Given the description of an element on the screen output the (x, y) to click on. 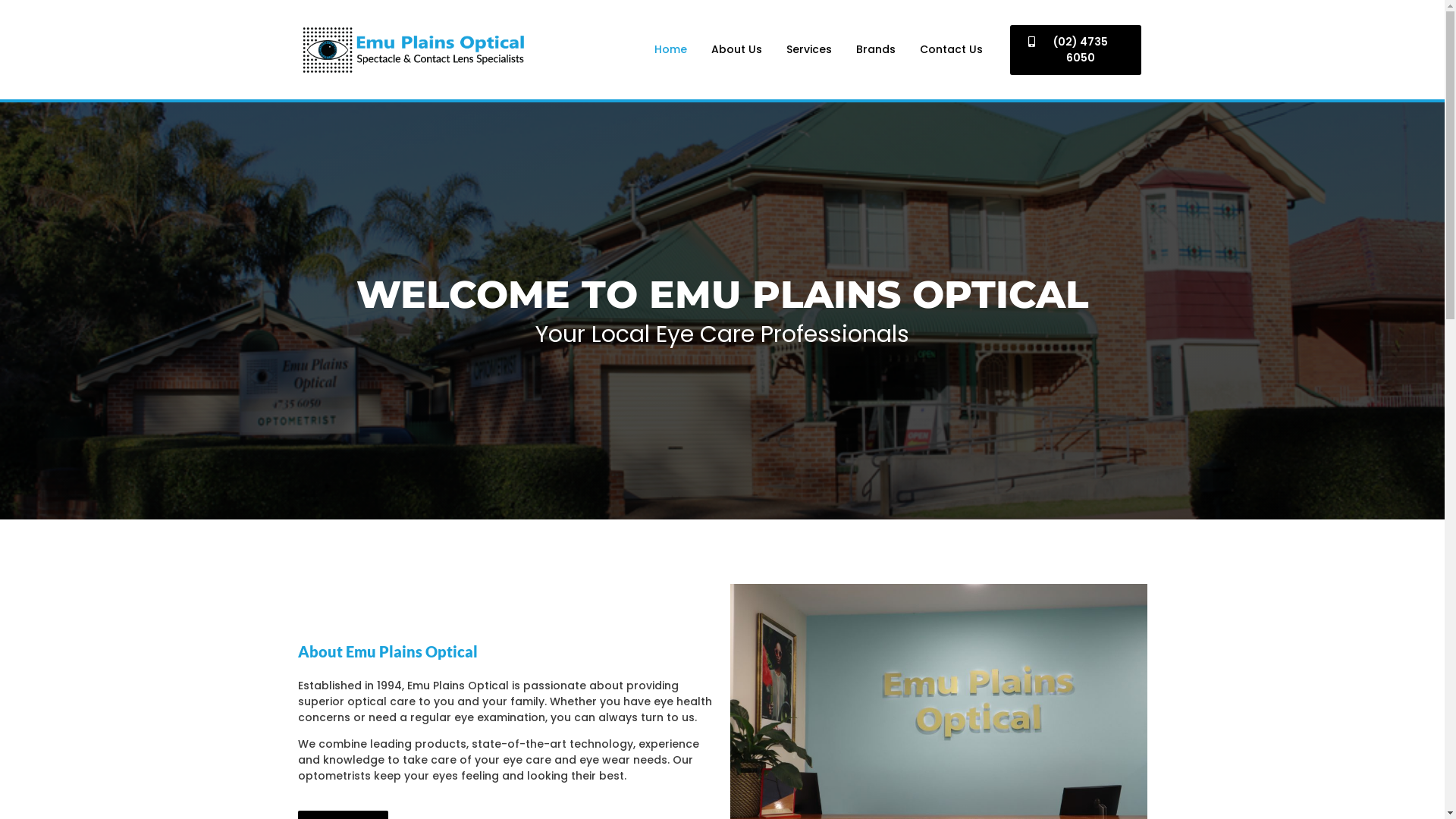
Services Element type: text (809, 49)
About Us Element type: text (736, 49)
(02) 4735 6050 Element type: text (1075, 50)
Home Element type: text (670, 49)
Brands Element type: text (875, 49)
Contact Us Element type: text (950, 49)
